Given the description of an element on the screen output the (x, y) to click on. 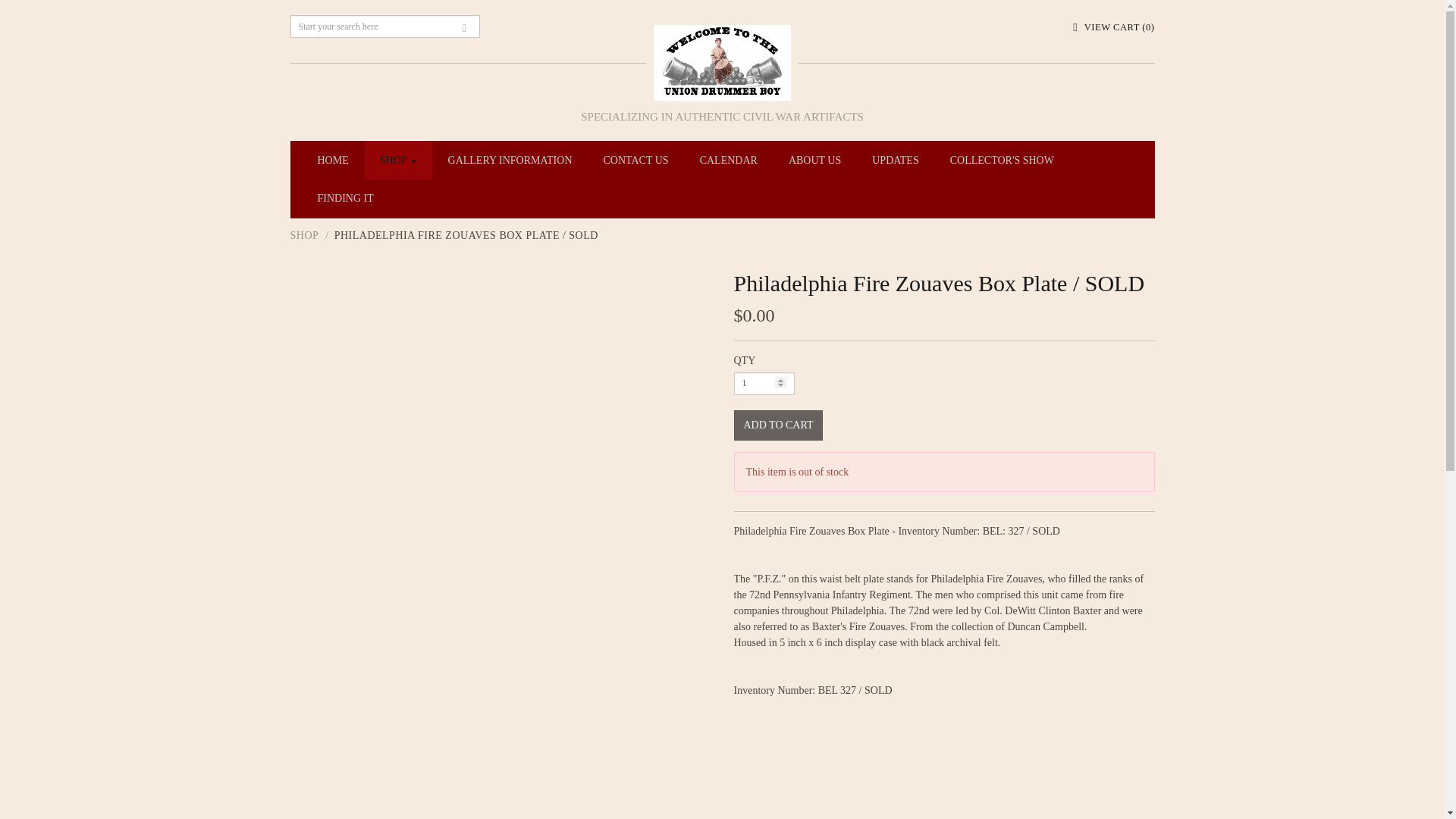
SHOP (398, 160)
HOME (331, 160)
Add to Cart (778, 425)
1 (763, 383)
